Given the description of an element on the screen output the (x, y) to click on. 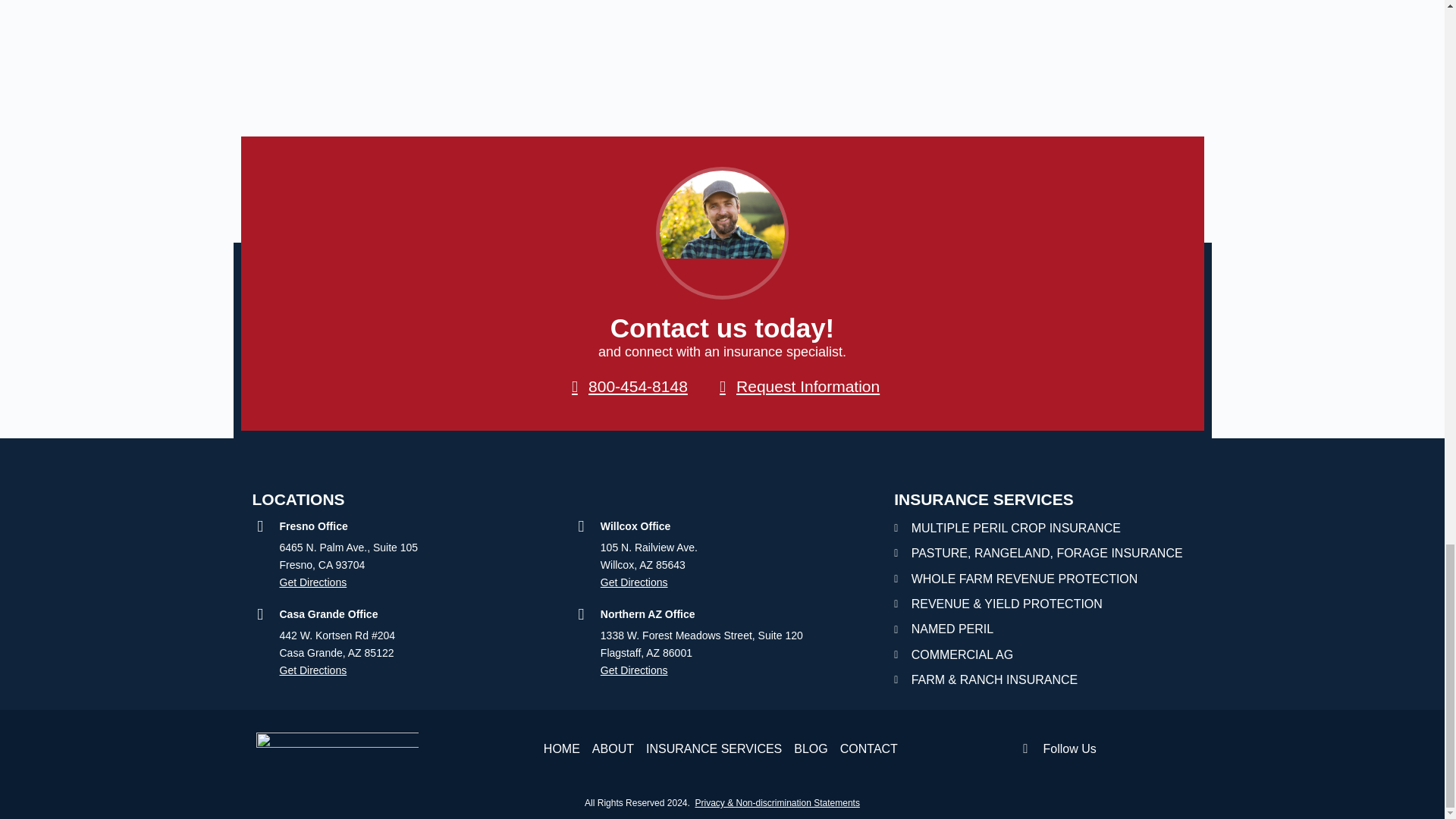
800-454-8148 (625, 386)
Request Information (796, 386)
Get Directions (414, 582)
